Given the description of an element on the screen output the (x, y) to click on. 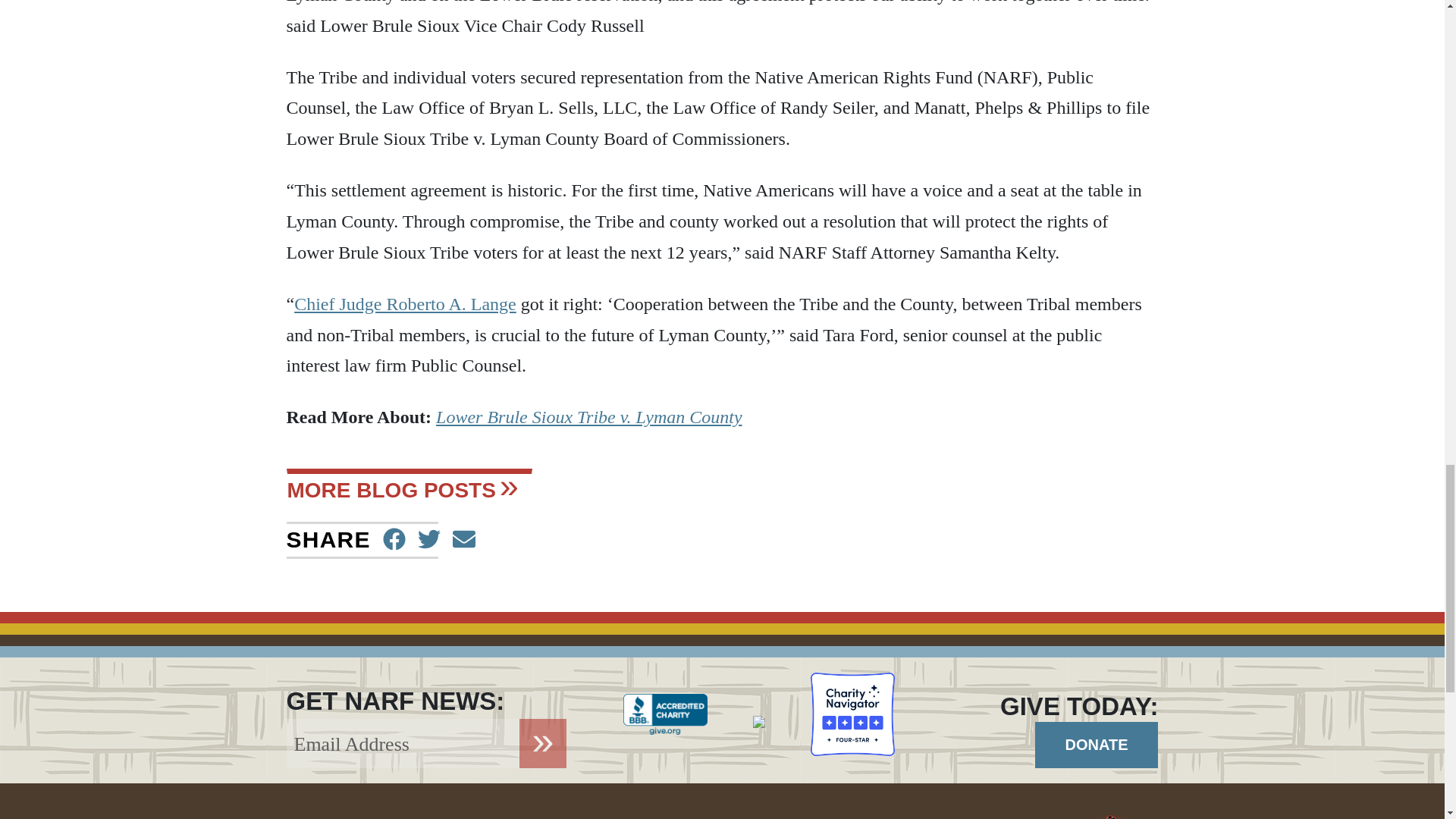
Tweet (429, 539)
Send email (464, 539)
Share on Facebook (394, 539)
Donate (1096, 744)
Native American Rights Fund (980, 816)
